Given the description of an element on the screen output the (x, y) to click on. 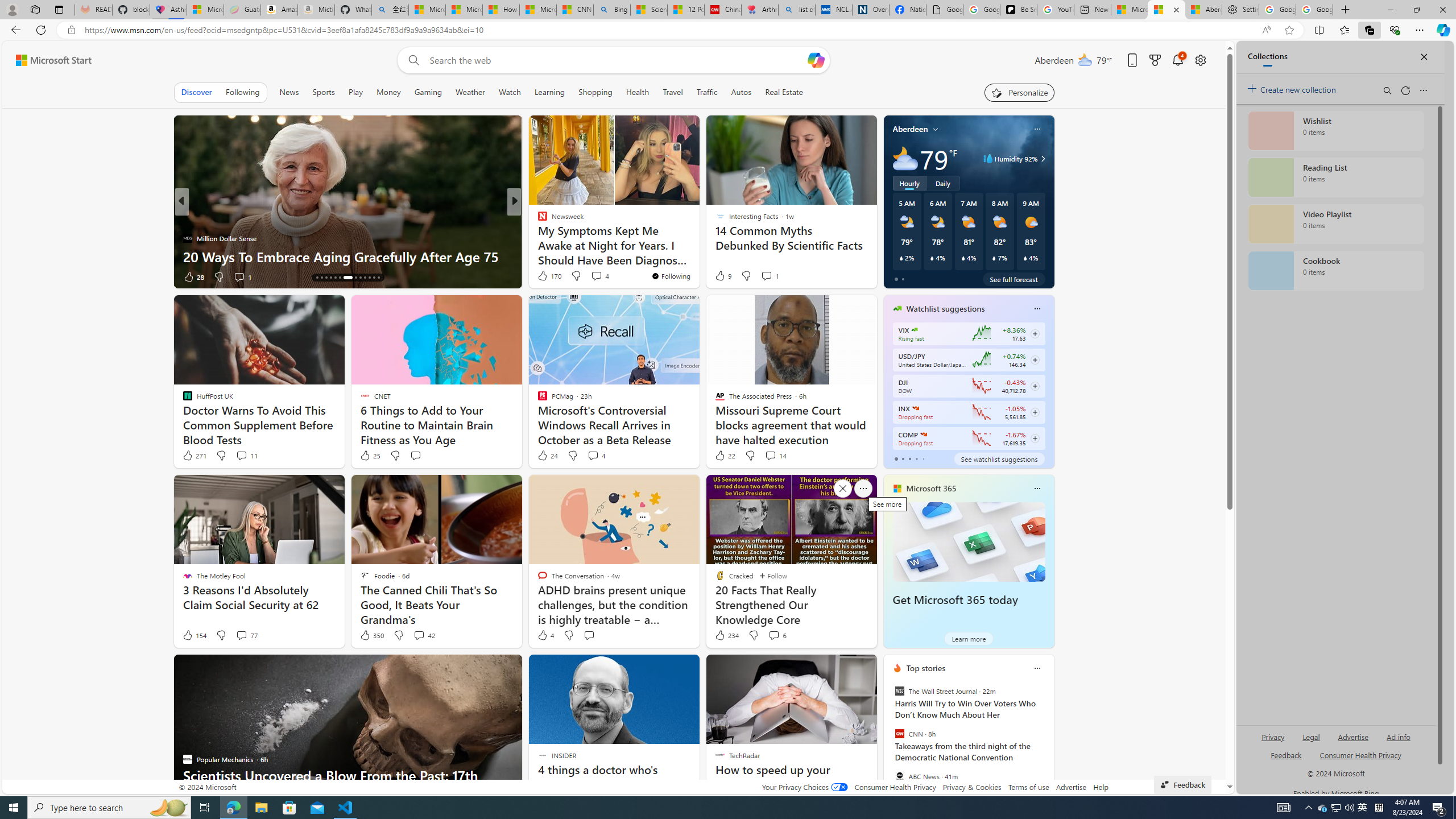
Mostly cloudy (904, 158)
AutomationID: tab-17 (330, 277)
View comments 4 Comment (596, 455)
tab-0 (895, 458)
The Wall Street Journal (898, 691)
